Given the description of an element on the screen output the (x, y) to click on. 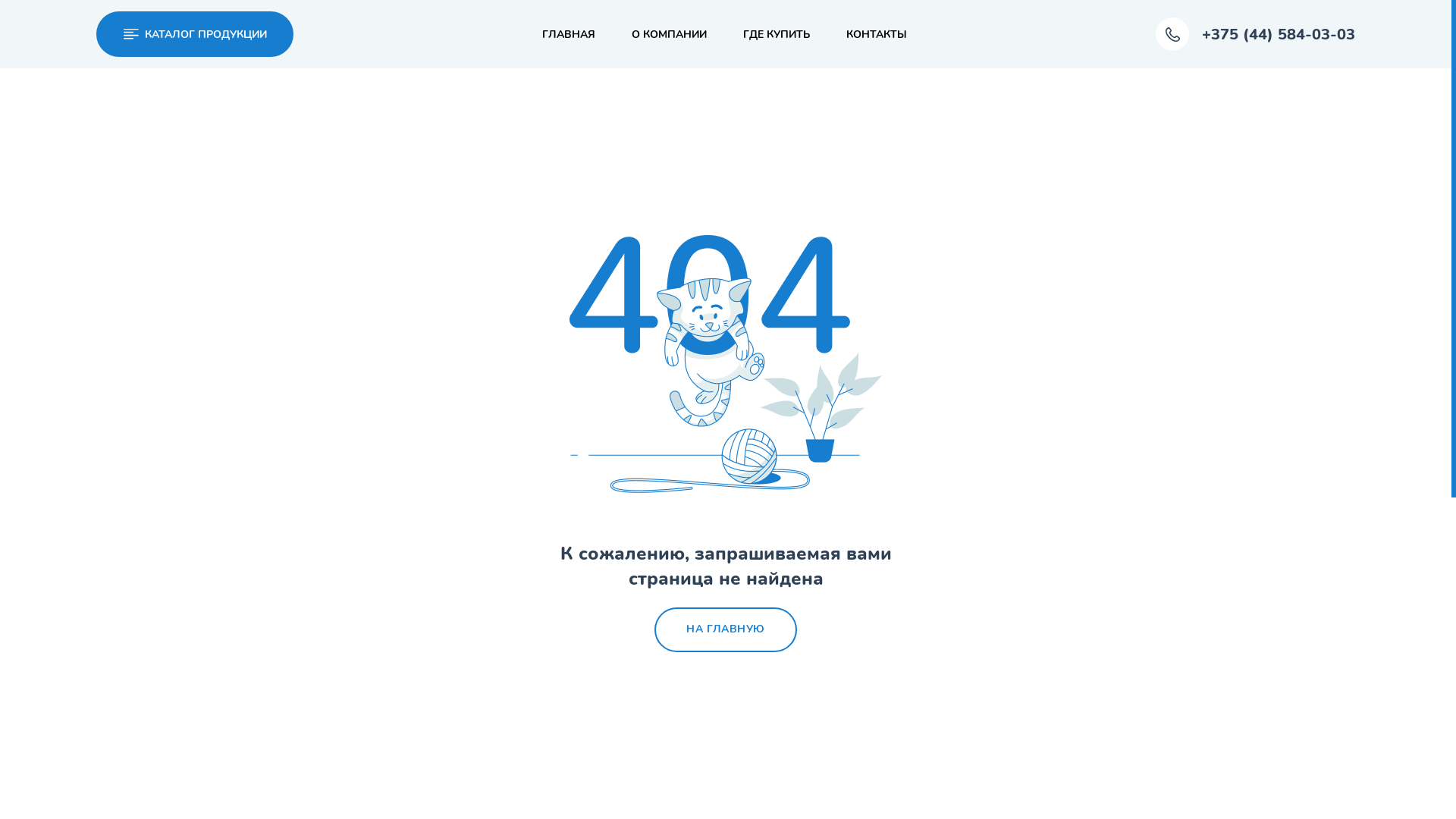
+375 (44) 584-03-03 Element type: text (1255, 33)
